Given the description of an element on the screen output the (x, y) to click on. 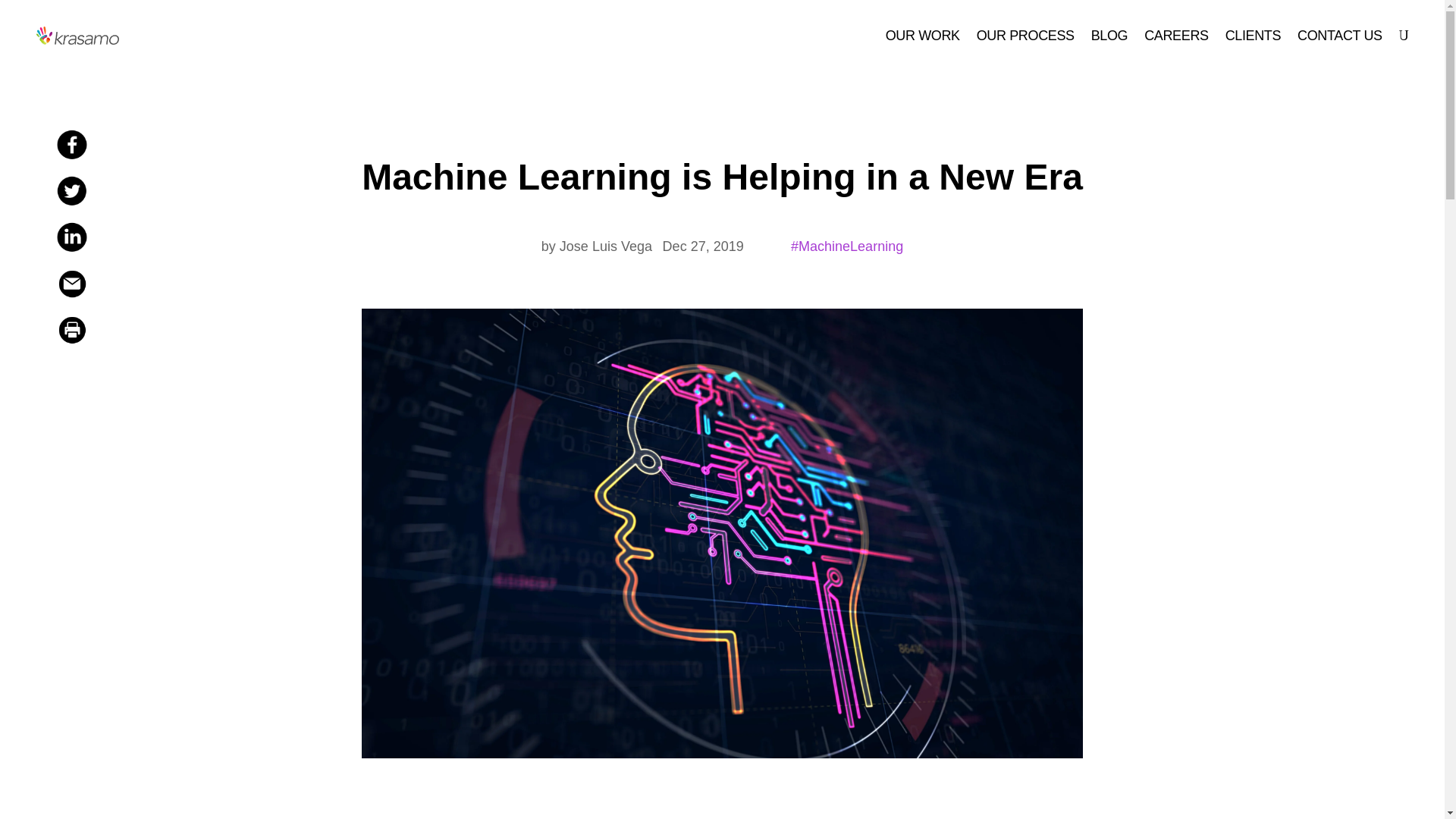
CONTACT US (1339, 35)
OUR WORK (922, 35)
CAREERS (1176, 35)
F (71, 283)
F (71, 144)
CLIENTS (1253, 35)
F (71, 237)
Jose Luis Vega (595, 246)
OUR PROCESS (1025, 35)
F (71, 191)
Posts by Jose Luis Vega (595, 246)
F (71, 329)
